Given the description of an element on the screen output the (x, y) to click on. 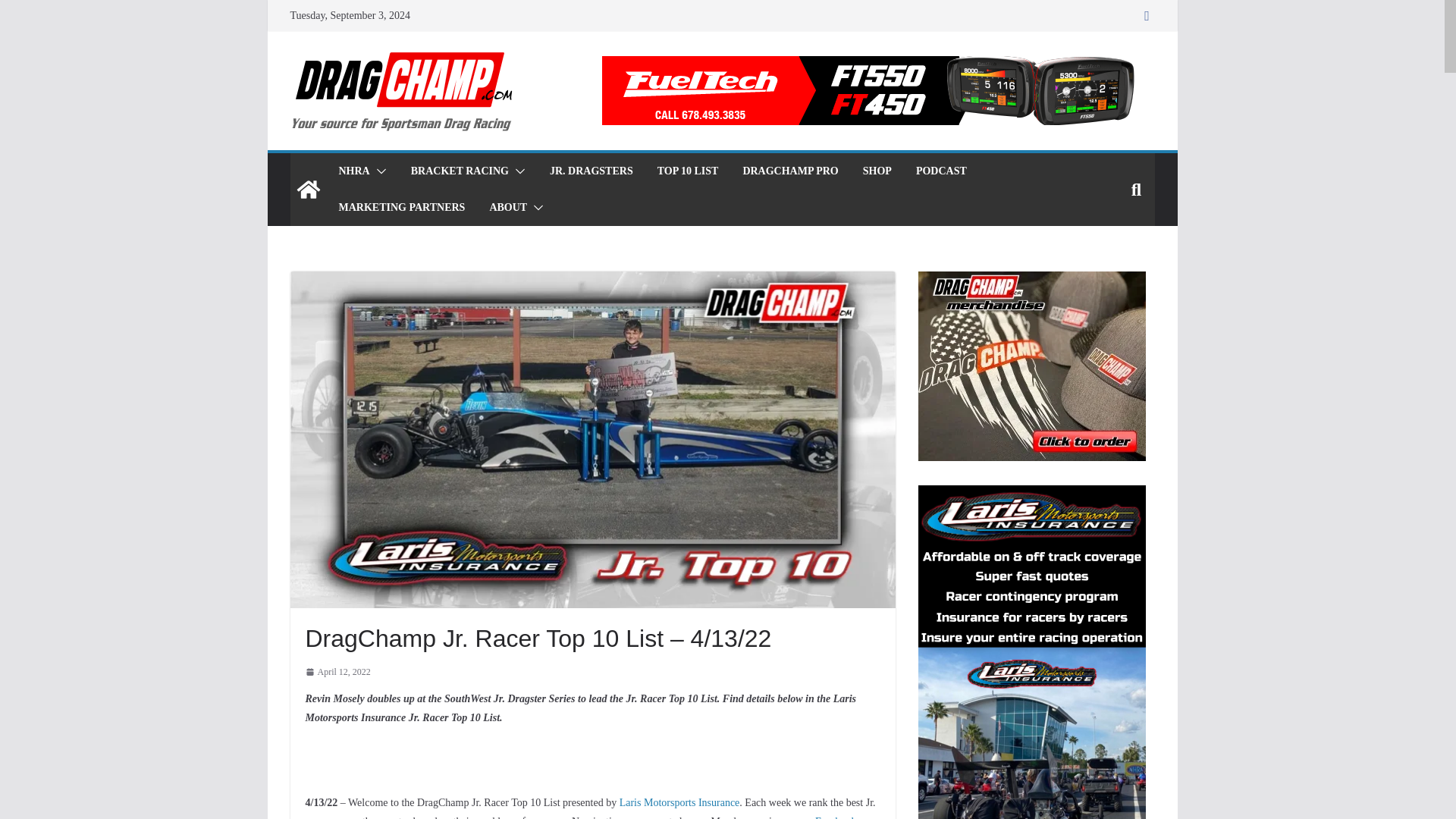
April 12, 2022 (336, 672)
TOP 10 LIST (688, 170)
SHOP (877, 170)
JR. DRAGSTERS (591, 170)
DRAGCHAMP PRO (790, 170)
DragChamp.com (307, 189)
10:10 pm (336, 672)
MARKETING PARTNERS (400, 207)
PODCAST (940, 170)
